Given the description of an element on the screen output the (x, y) to click on. 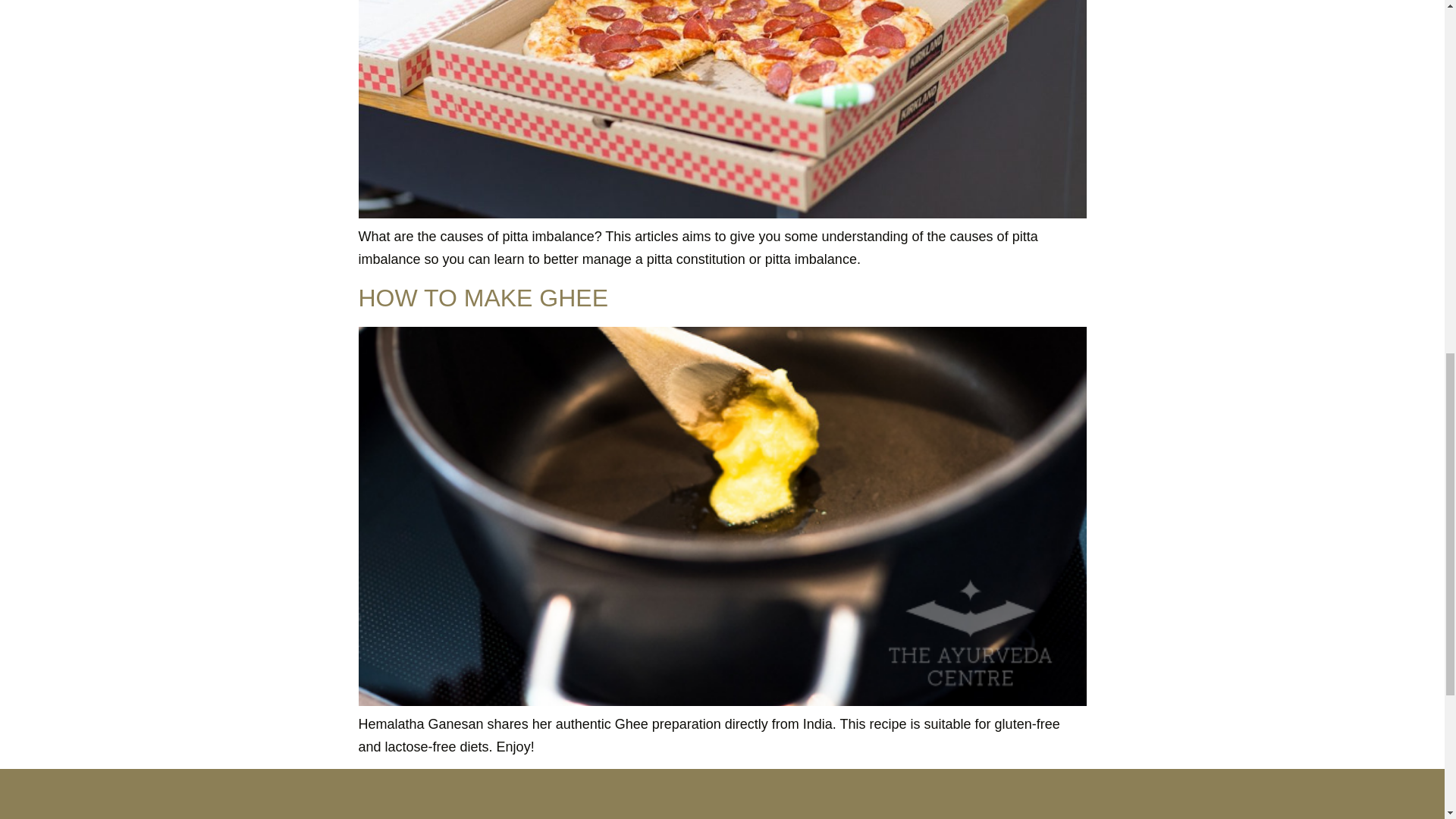
HOW TO MAKE GHEE (483, 298)
